Given the description of an element on the screen output the (x, y) to click on. 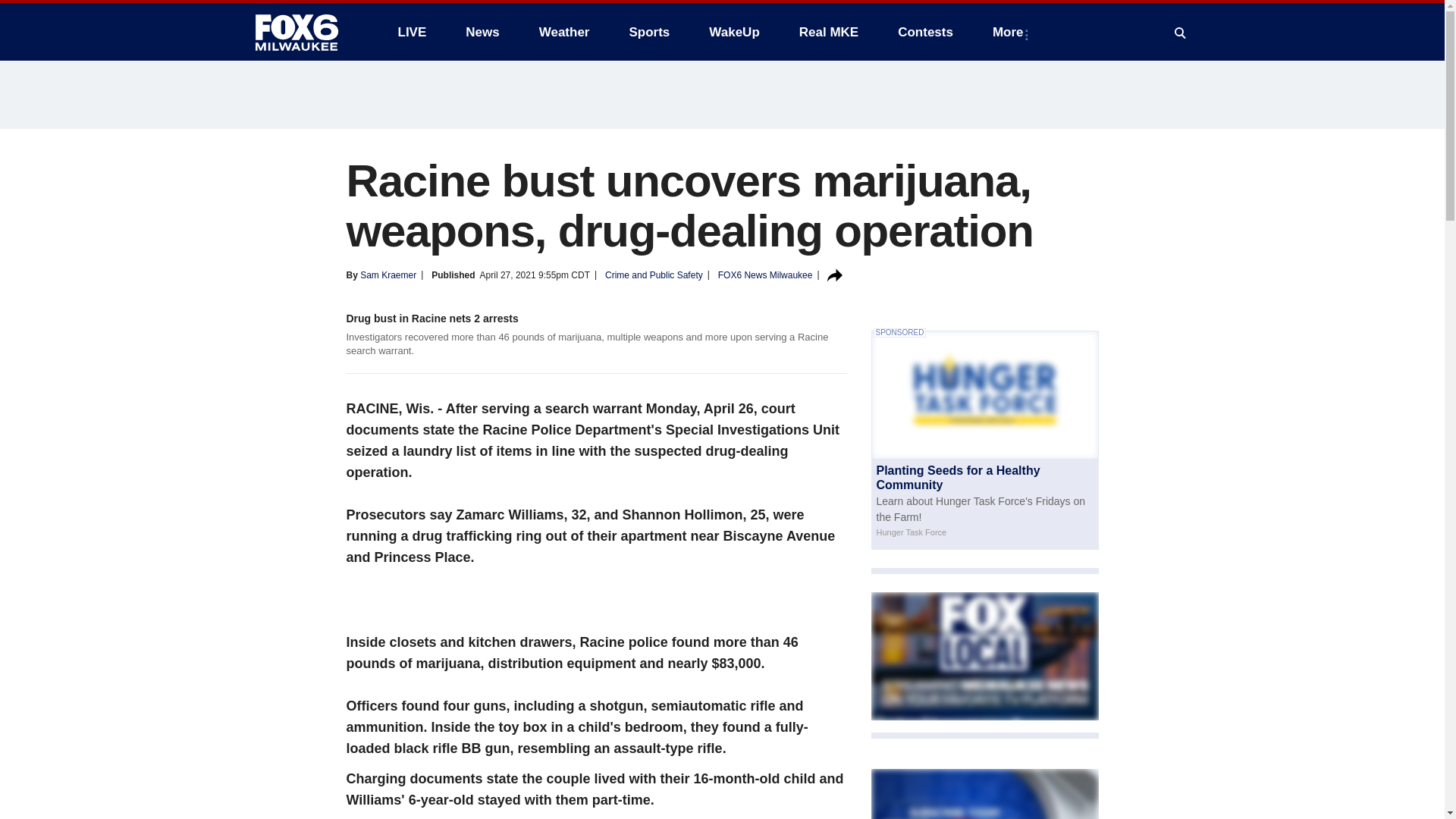
WakeUp (734, 32)
Real MKE (828, 32)
LIVE (411, 32)
News (481, 32)
Weather (564, 32)
Sports (648, 32)
Contests (925, 32)
More (1010, 32)
